Given the description of an element on the screen output the (x, y) to click on. 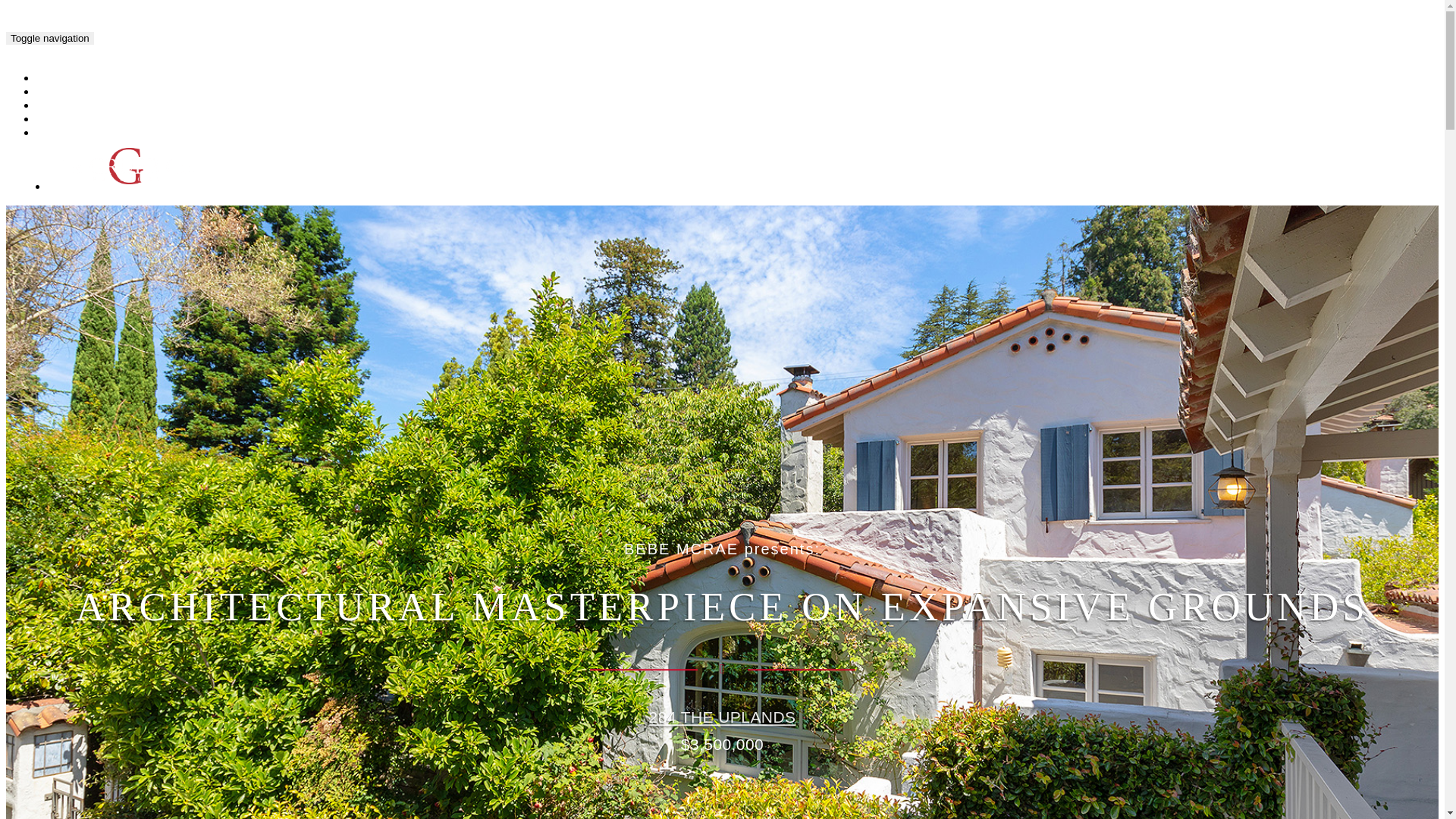
VIDEO TOUR Element type: text (77, 92)
FEATURES Element type: text (73, 106)
Toggle navigation Element type: text (50, 37)
SCHEDULE & CONTACT Element type: text (105, 133)
LOCATION Element type: text (72, 119)
GALLERY Element type: text (70, 78)
284 THE UPLANDS Element type: text (722, 716)
284 The Uplands Element type: text (163, 35)
